Given the description of an element on the screen output the (x, y) to click on. 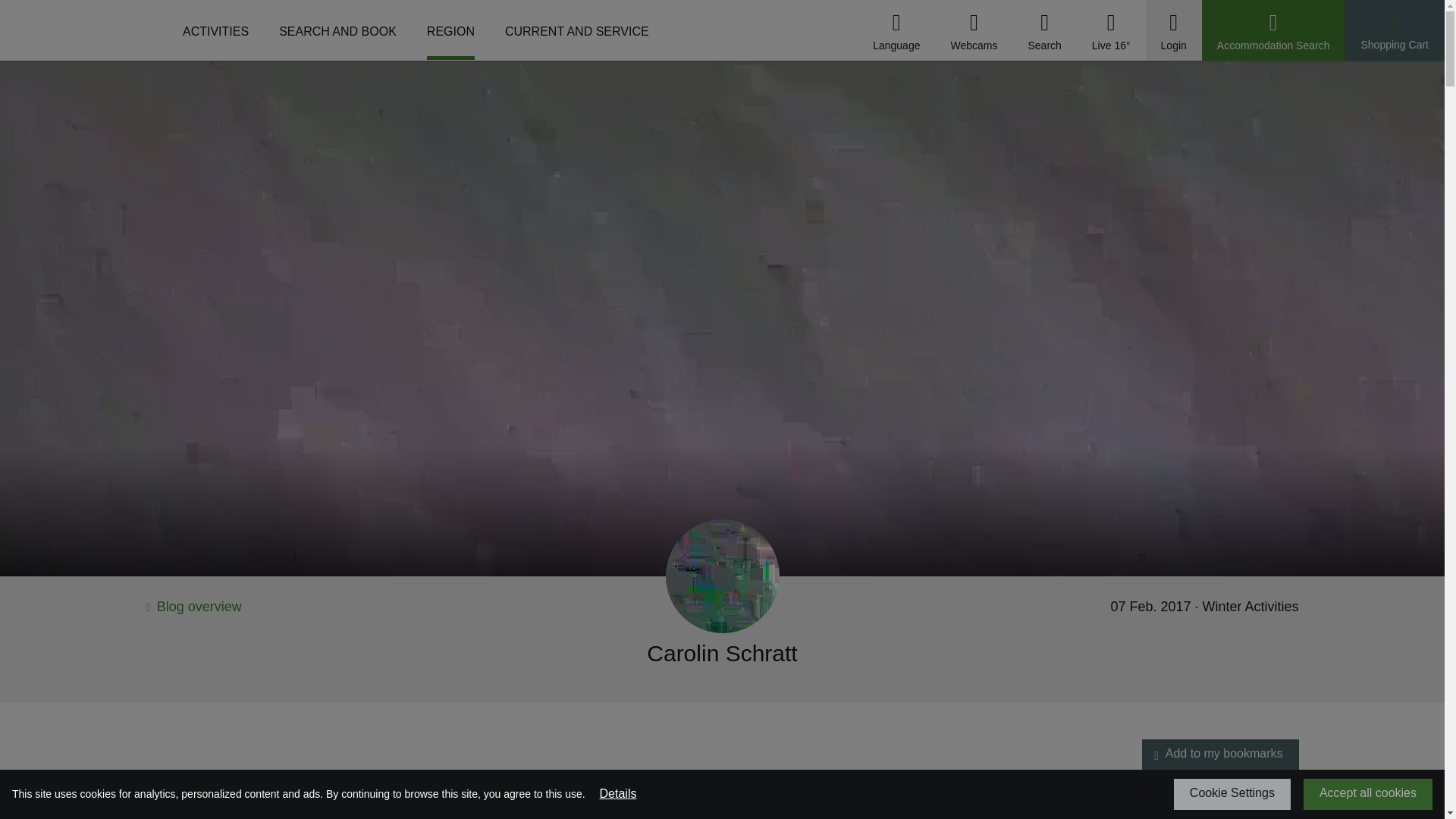
SEARCH AND BOOK (337, 36)
 Add to my bookmarks (1156, 756)
Suche (1044, 22)
Shopping Cart (1393, 23)
REGION (450, 36)
Accommodation Search (1273, 22)
Login (1173, 22)
Language (896, 22)
ACTIVITIES (215, 36)
Webcams (973, 22)
